Given the description of an element on the screen output the (x, y) to click on. 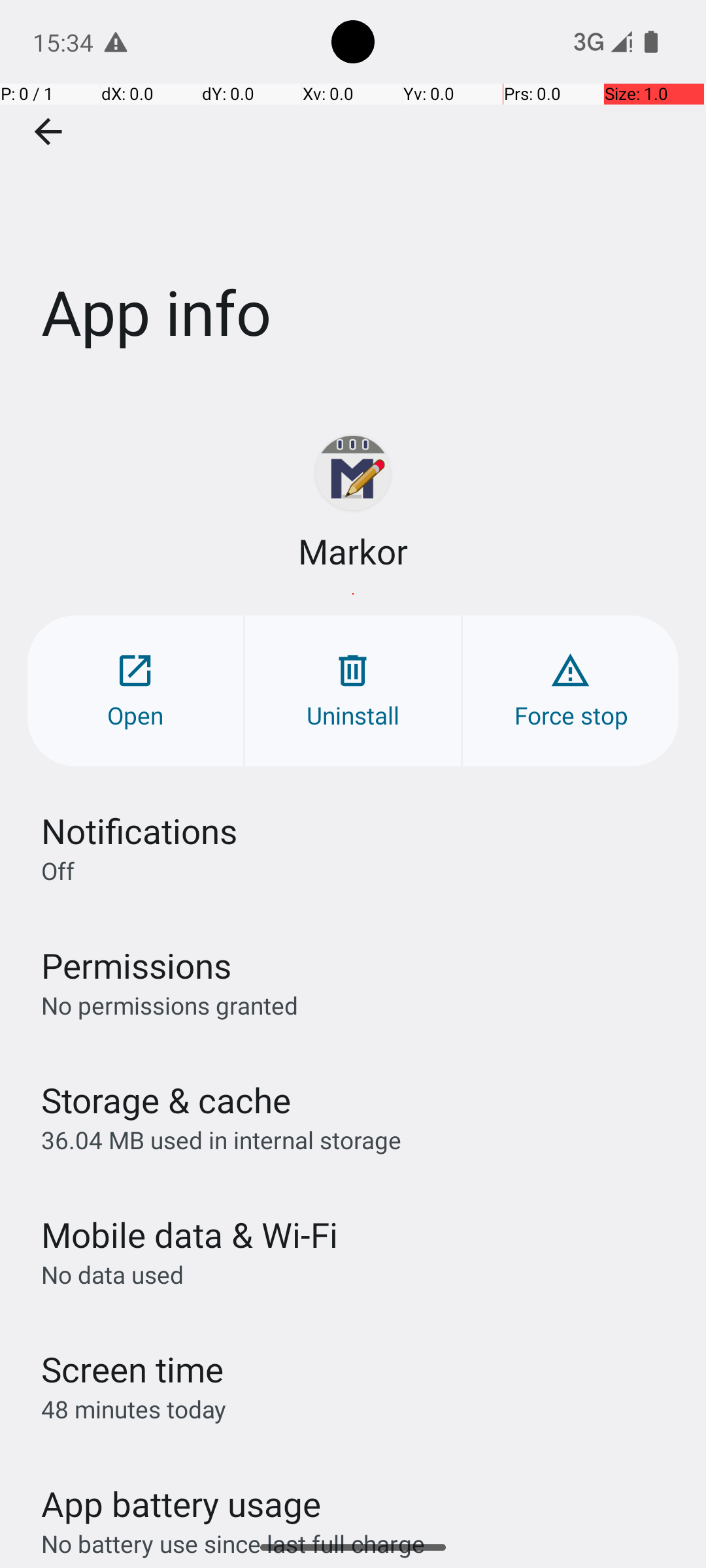
App info Element type: android.widget.FrameLayout (353, 195)
Open Element type: android.widget.Button (135, 690)
Uninstall Element type: android.widget.Button (352, 690)
Force stop Element type: android.widget.Button (570, 690)
Permissions Element type: android.widget.TextView (136, 965)
No permissions granted Element type: android.widget.TextView (169, 1004)
Storage & cache Element type: android.widget.TextView (166, 1099)
36.04 MB used in internal storage Element type: android.widget.TextView (221, 1139)
Mobile data & Wi‑Fi Element type: android.widget.TextView (189, 1234)
No data used Element type: android.widget.TextView (112, 1273)
48 minutes today Element type: android.widget.TextView (133, 1408)
App battery usage Element type: android.widget.TextView (181, 1503)
